Given the description of an element on the screen output the (x, y) to click on. 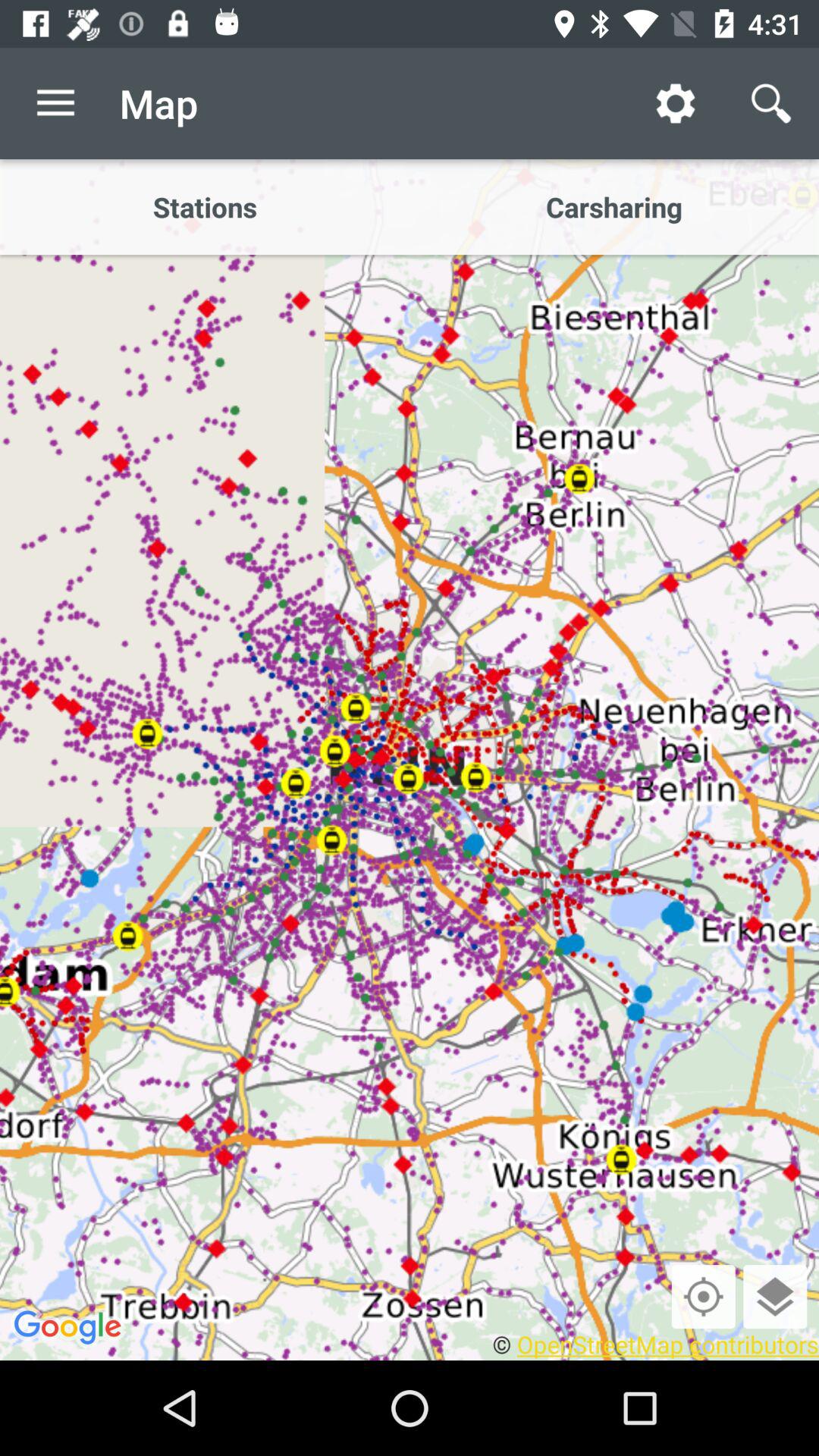
press the icon next to the map (675, 103)
